Given the description of an element on the screen output the (x, y) to click on. 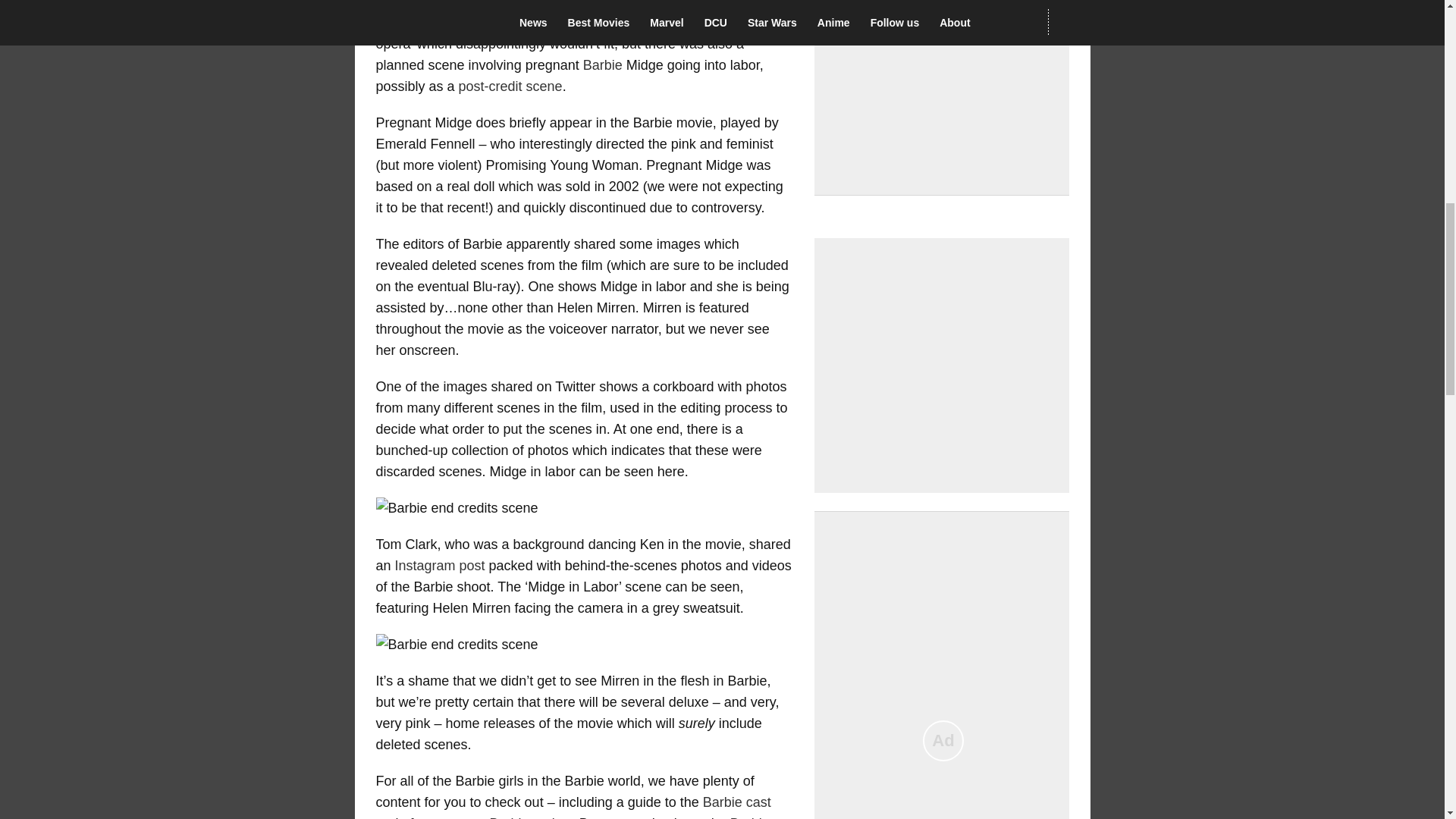
Instagram post (439, 565)
Barbie (603, 64)
post-credit scene (510, 86)
cut scenes (604, 22)
Barbie review (530, 817)
Barbie cast (737, 801)
